Given the description of an element on the screen output the (x, y) to click on. 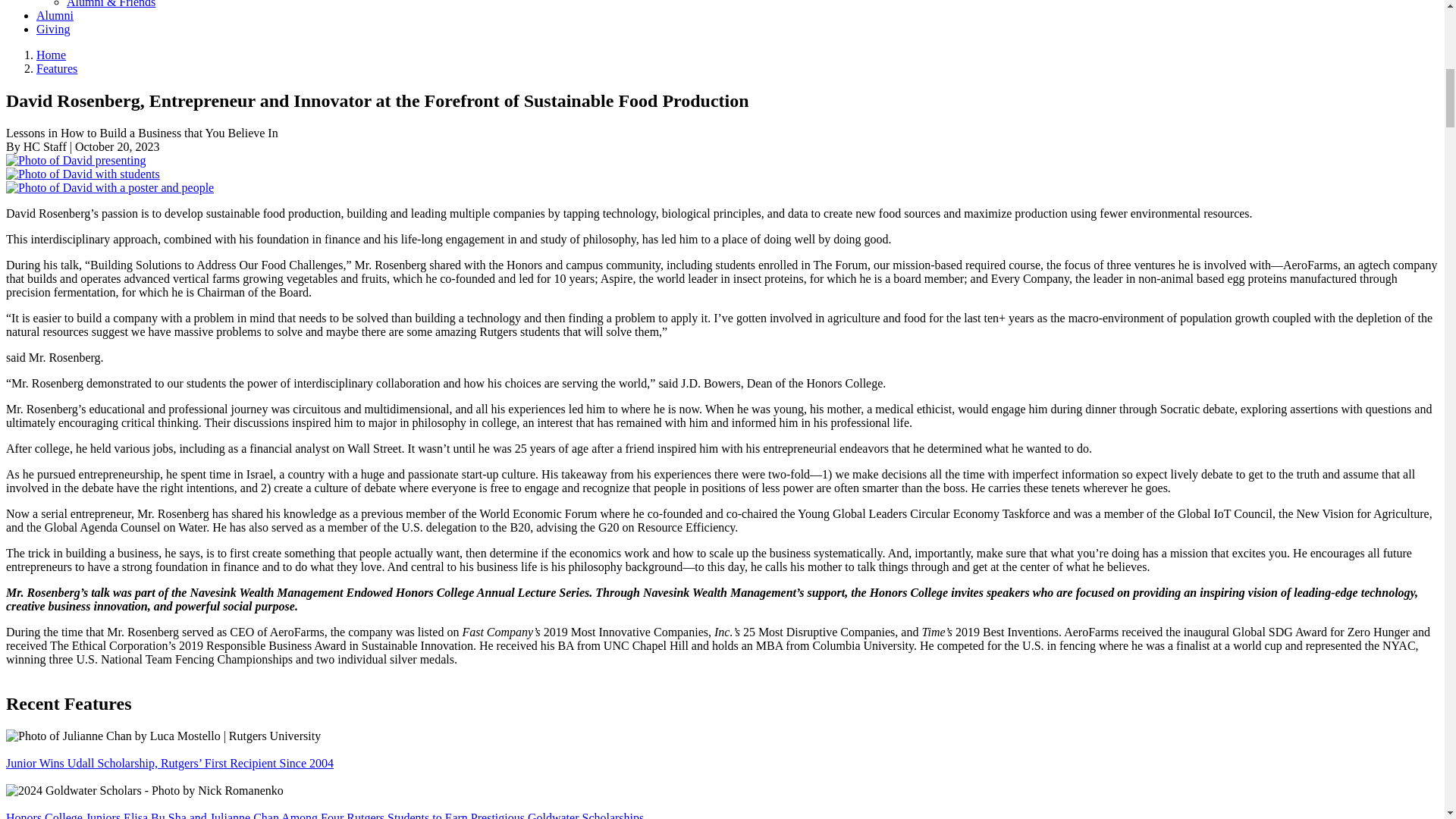
Photo of David with students (82, 173)
Photo of David with a poster and people (109, 187)
Photo of David presenting (75, 160)
Photo of David presenting (75, 160)
Photo of David with students (82, 173)
Photo of David with a poster and people (109, 187)
